Given the description of an element on the screen output the (x, y) to click on. 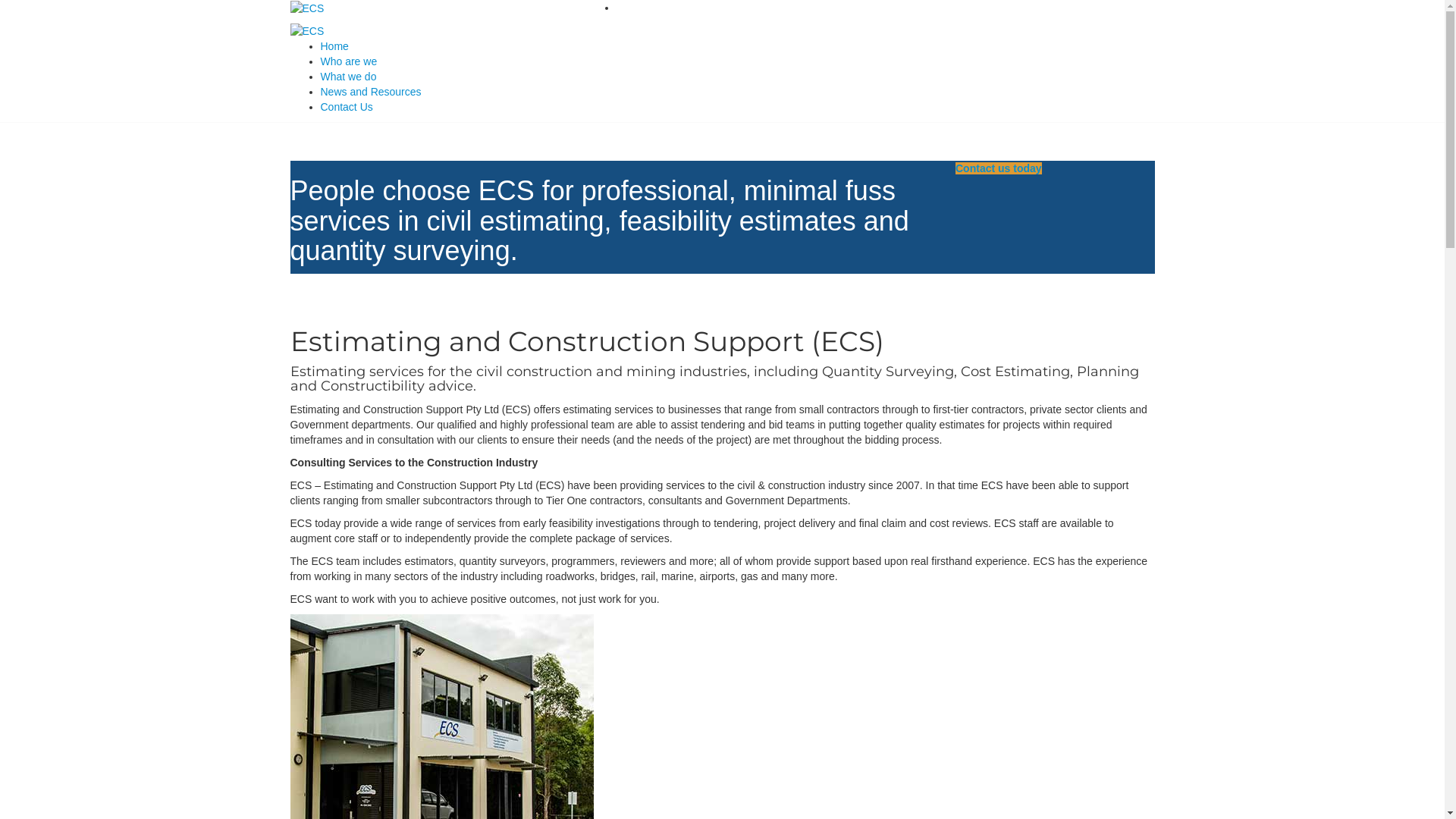
ECS Element type: hover (306, 7)
What we do Element type: text (348, 76)
Contact us today Element type: text (998, 168)
Home Element type: text (334, 46)
ECS Element type: hover (306, 30)
Contact Us Element type: text (346, 106)
Who are we Element type: text (348, 61)
News and Resources Element type: text (370, 91)
